Given the description of an element on the screen output the (x, y) to click on. 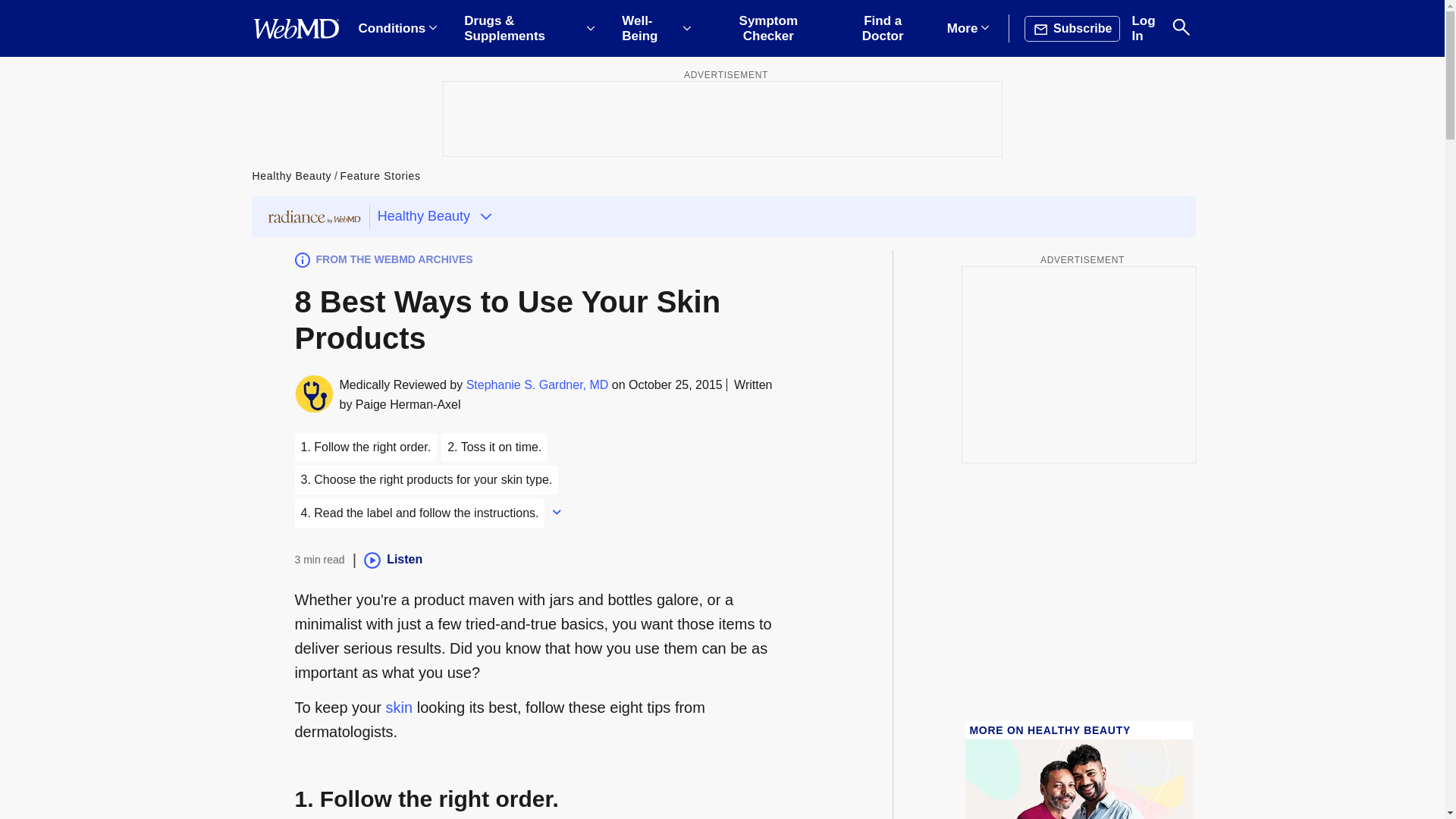
Conditions (397, 28)
3rd party ad content (721, 119)
3rd party ad content (1077, 364)
